Given the description of an element on the screen output the (x, y) to click on. 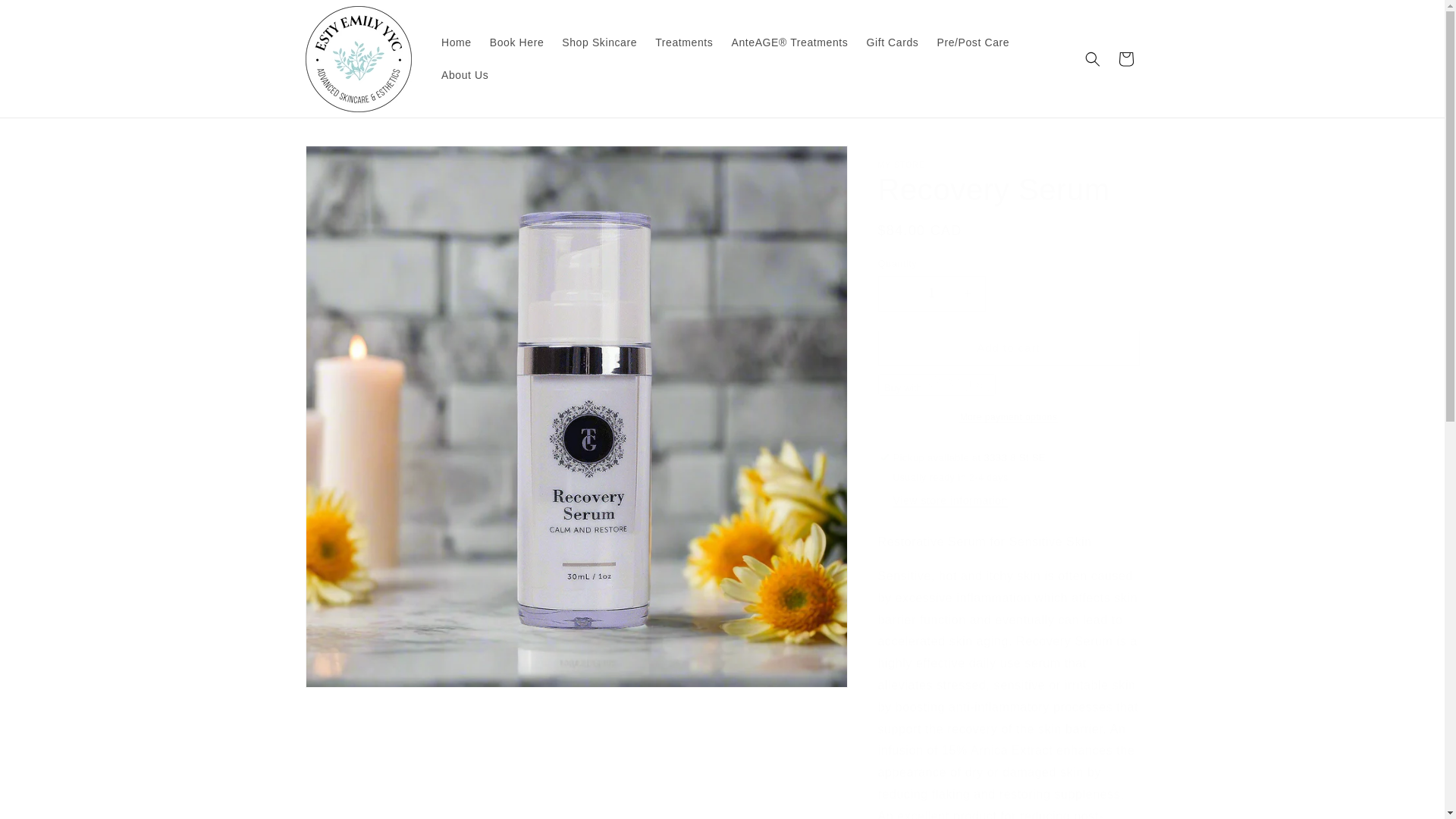
Book Here (516, 42)
Decrease quantity for Recovery Serum (894, 294)
Gift Cards (892, 42)
View store information (950, 500)
Home (456, 42)
Treatments (684, 42)
More payment options (1008, 417)
Shop Skincare (599, 42)
Add to cart (1008, 348)
